Given the description of an element on the screen output the (x, y) to click on. 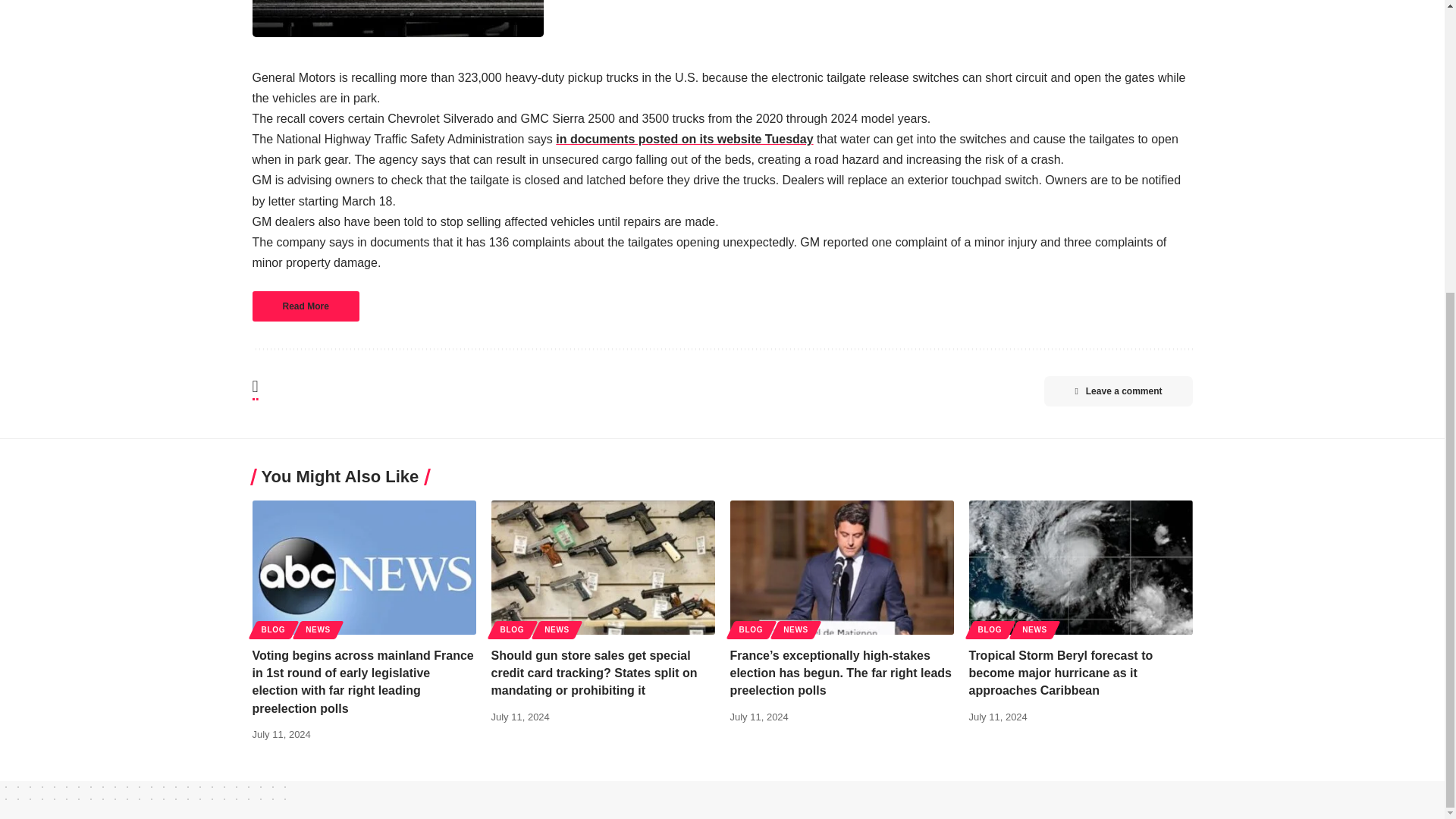
BLOG (990, 629)
BLOG (272, 629)
NEWS (318, 629)
Leave a comment (1117, 390)
in documents posted on its website Tuesday (684, 138)
BLOG (513, 629)
NEWS (556, 629)
NEWS (1035, 629)
BLOG (750, 629)
Read More (304, 306)
